Given the description of an element on the screen output the (x, y) to click on. 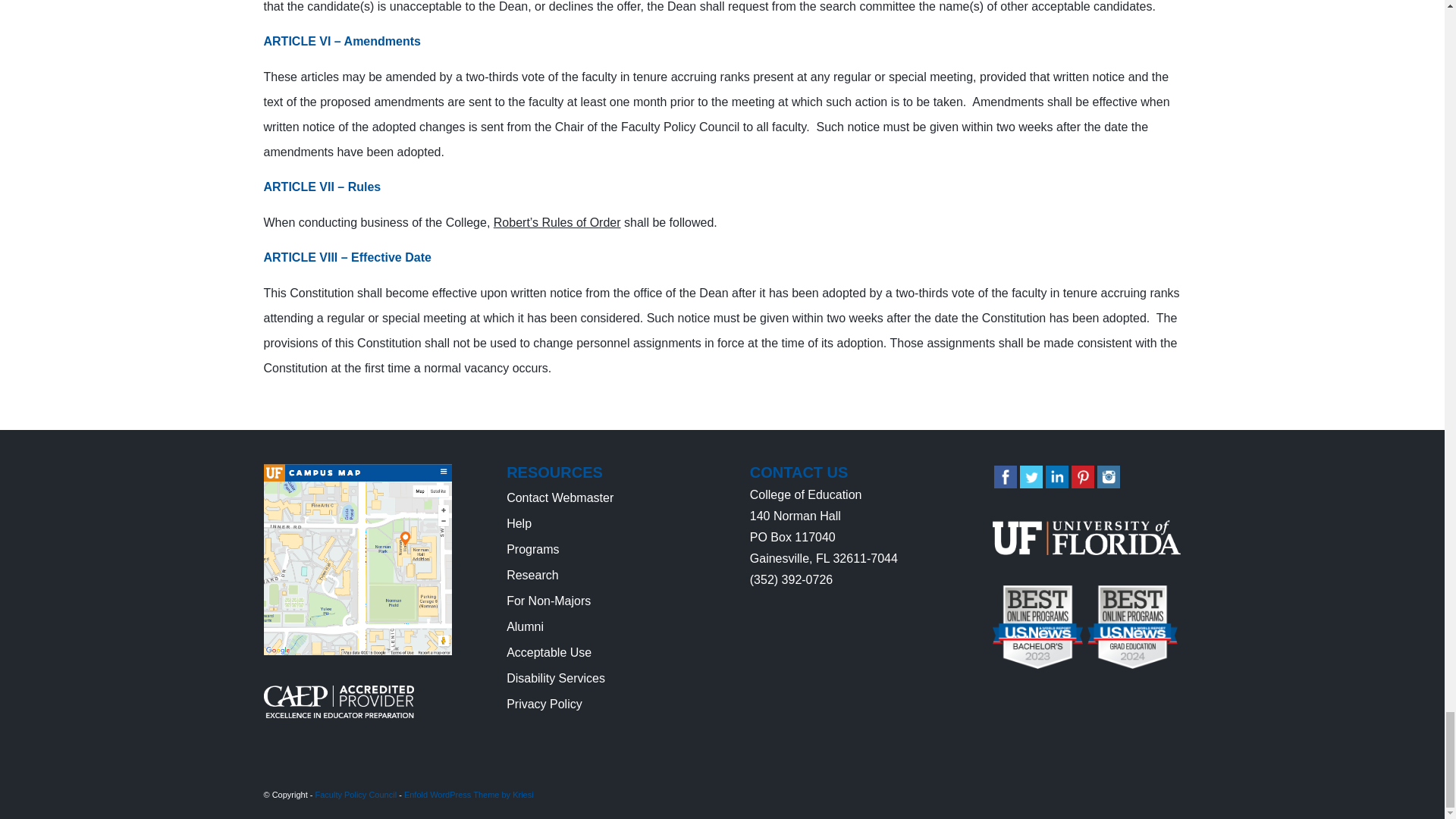
Pinterest (1082, 477)
Facebook (1005, 477)
LinkedIn (1056, 477)
CAEP Accreditation (338, 712)
campus map (357, 560)
Instagram (1108, 477)
Twitter (1031, 477)
UF (1086, 537)
